Given the description of an element on the screen output the (x, y) to click on. 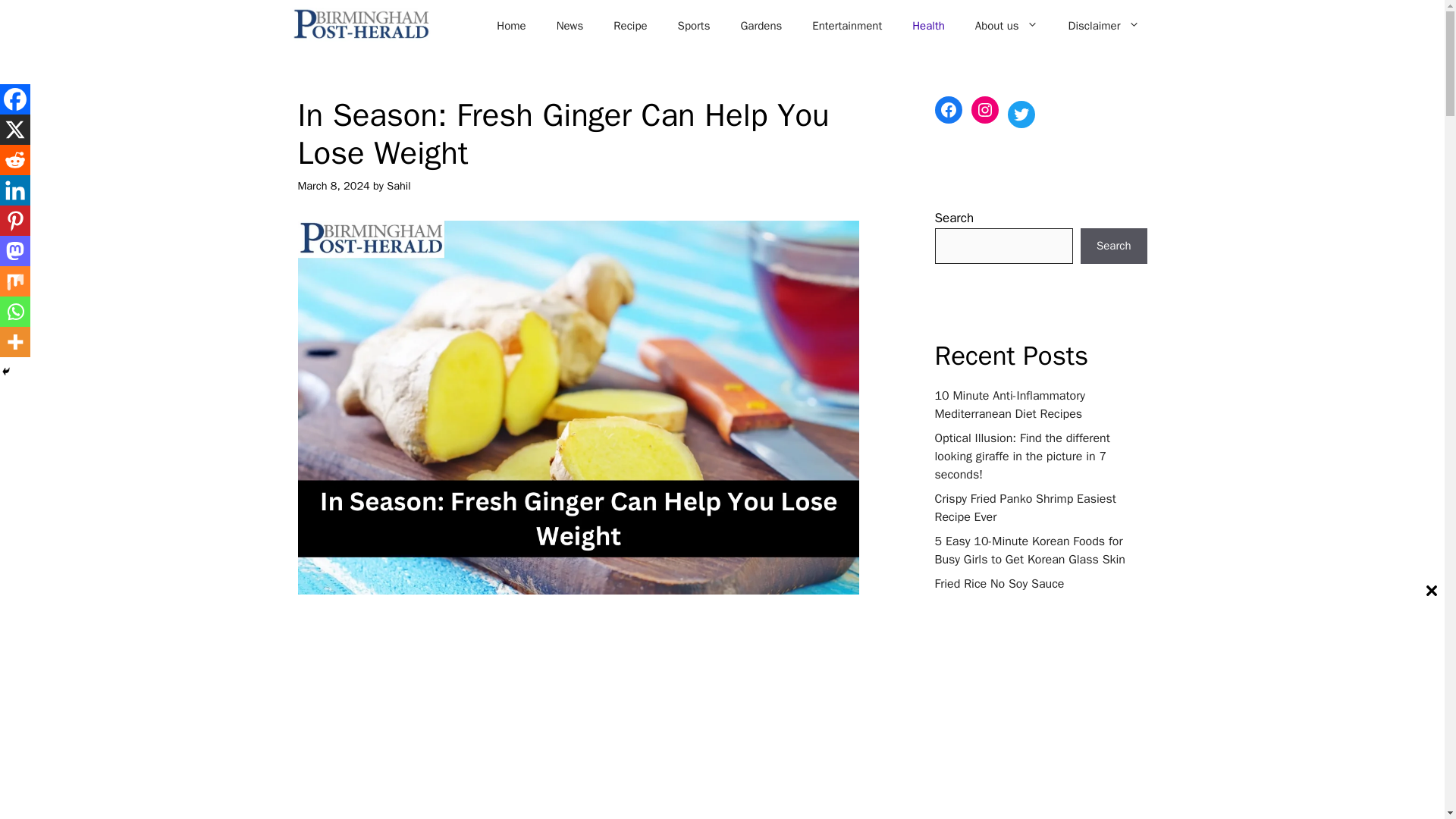
Gardens (760, 25)
Pinterest (371, 654)
Copy Link (489, 654)
Birmingham Post Herald (359, 25)
X (342, 654)
Instagram (430, 654)
Sahil (398, 185)
About us (1005, 25)
Facebook (311, 654)
Print (460, 654)
